Given the description of an element on the screen output the (x, y) to click on. 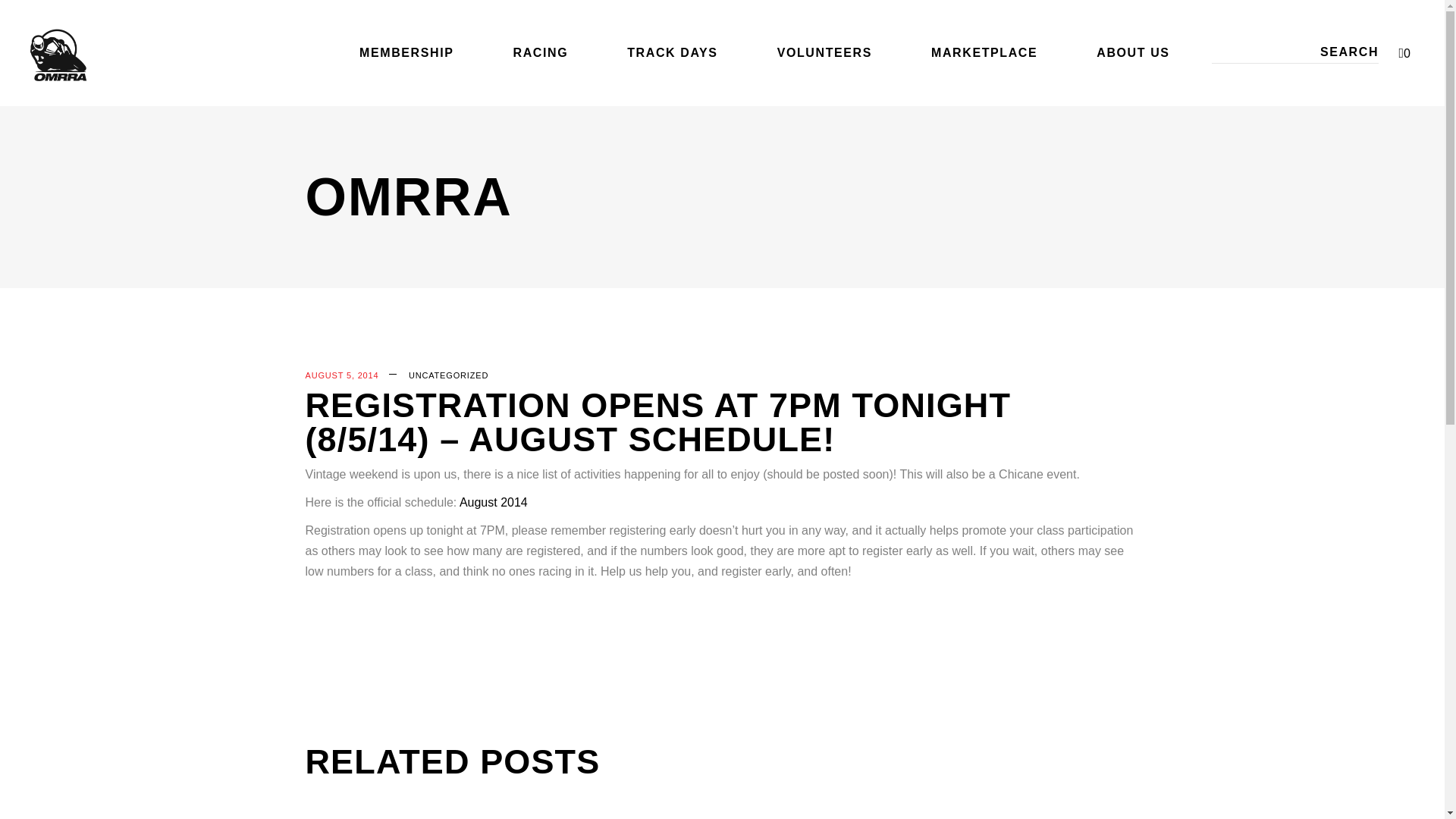
MARKETPLACE (983, 53)
MEMBERSHIP (405, 53)
ABOUT US (1132, 53)
VOLUNTEERS (824, 53)
TRACK DAYS (671, 53)
RACING (539, 53)
